Given the description of an element on the screen output the (x, y) to click on. 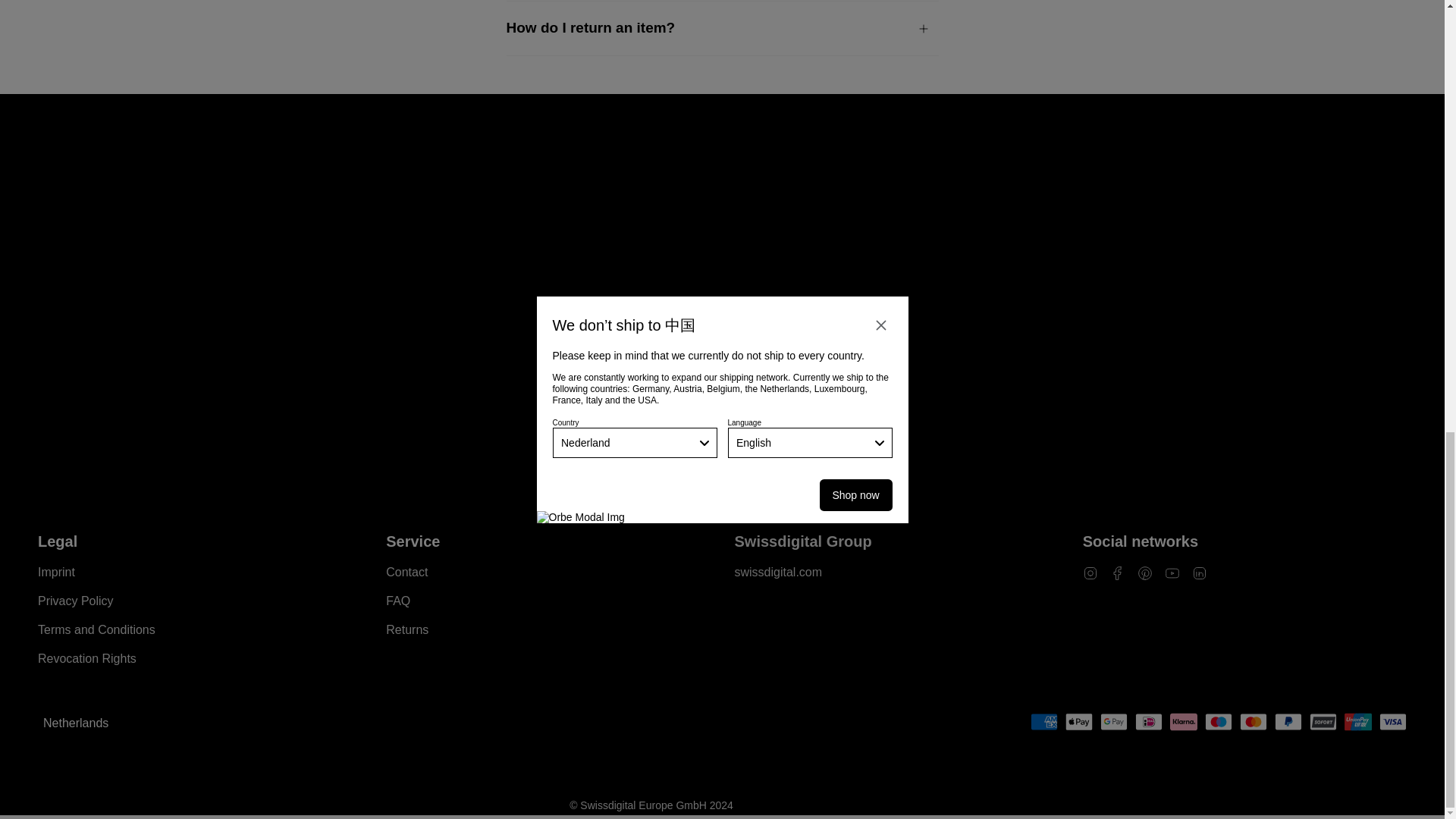
Swissdigital Europe GmbH on Pinterest (1145, 571)
Google Pay (1113, 721)
Swissdigital Europe GmbH on Linkedin (1199, 571)
Apple Pay (1079, 721)
Swissdigital Europe GmbH on Instagram (1090, 571)
Swissdigital Europe GmbH on Facebook (1117, 571)
iDEAL (1148, 721)
American Express (1044, 721)
Swissdigital Europe GmbH on YouTube (1171, 571)
